Given the description of an element on the screen output the (x, y) to click on. 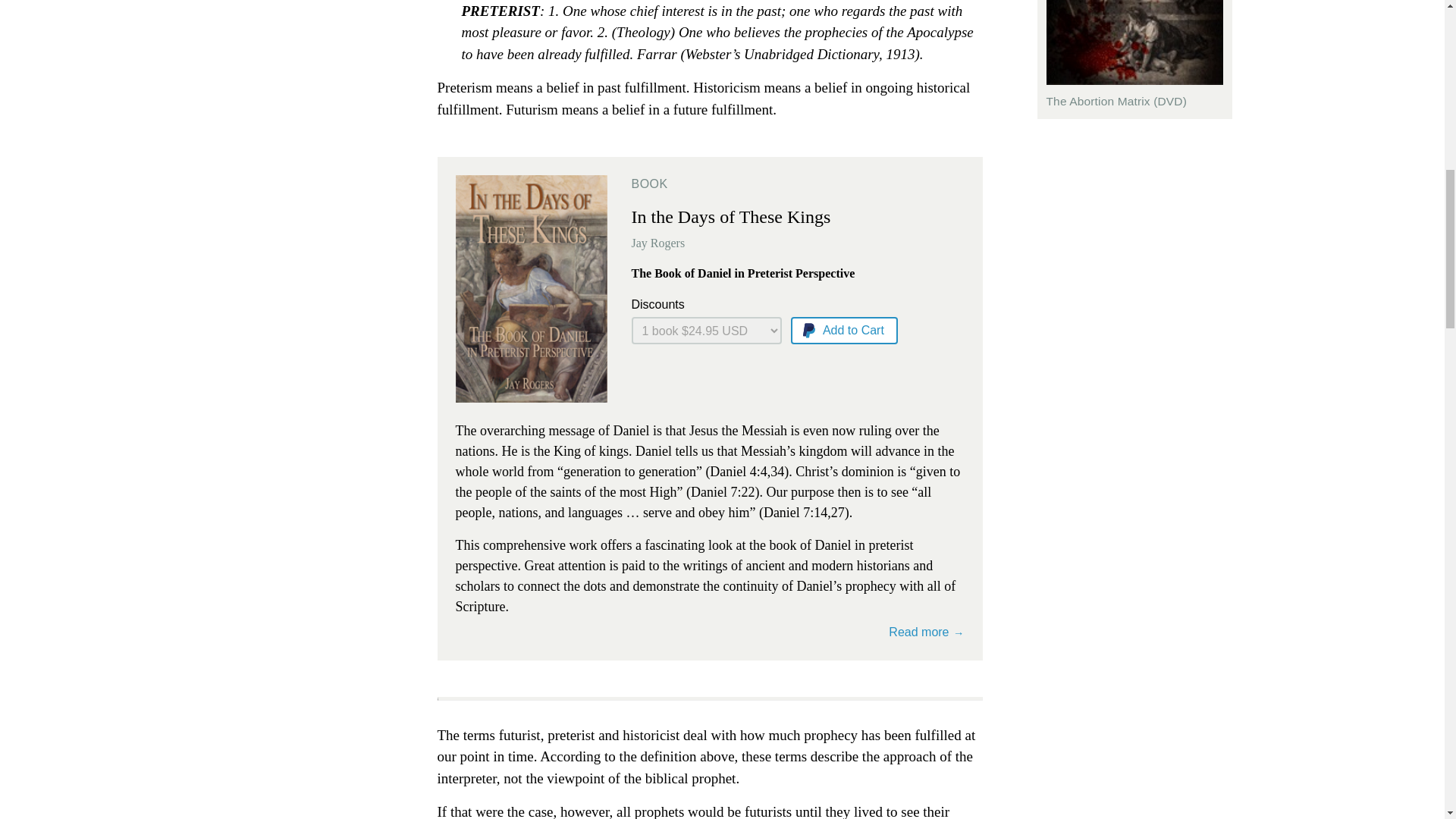
In the Days of These Kings (729, 216)
Add to Cart (844, 329)
Read more (708, 629)
Read more (708, 629)
